Given the description of an element on the screen output the (x, y) to click on. 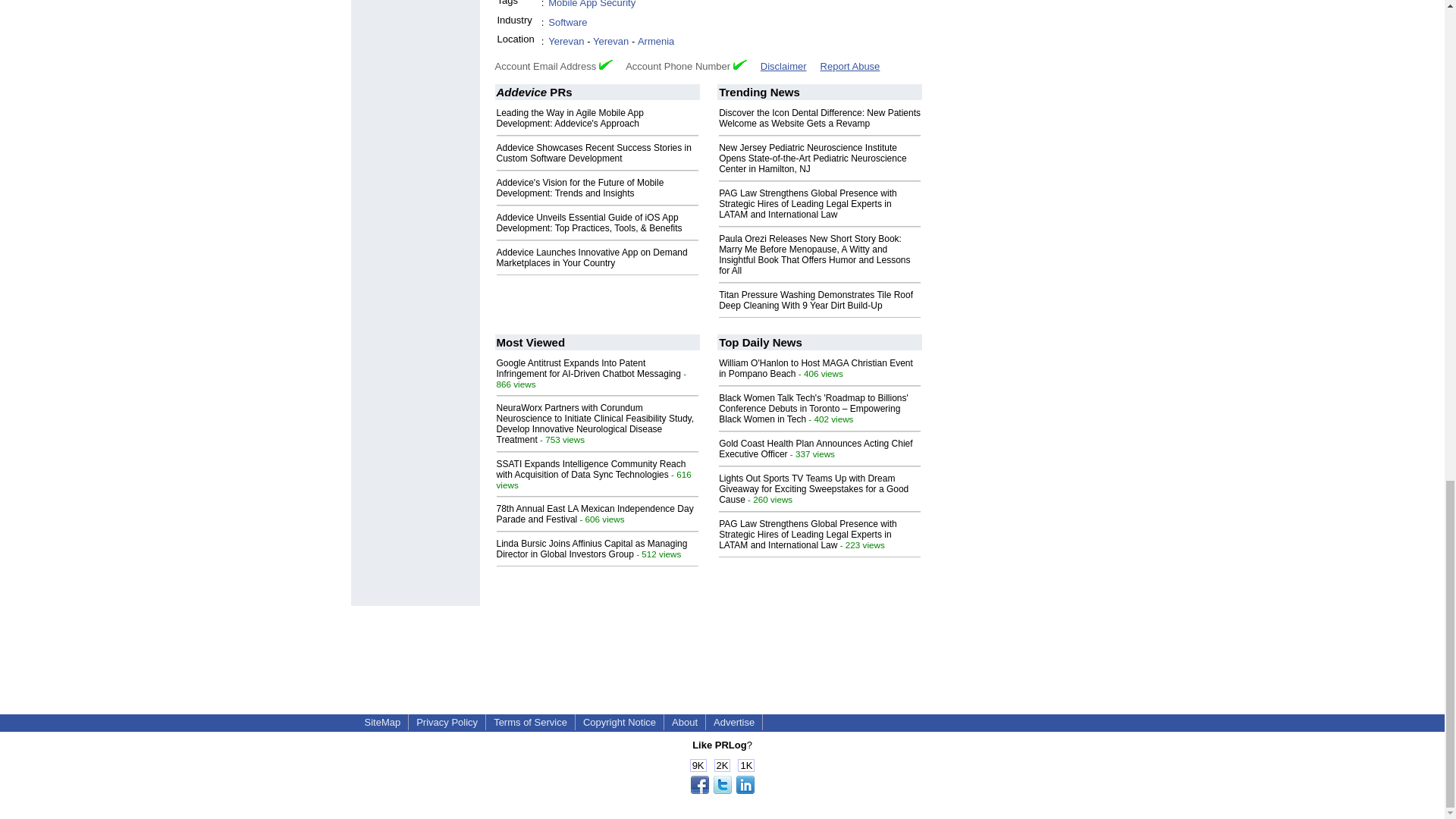
Verified (739, 64)
Share this page! (722, 790)
Verified (605, 64)
